Given the description of an element on the screen output the (x, y) to click on. 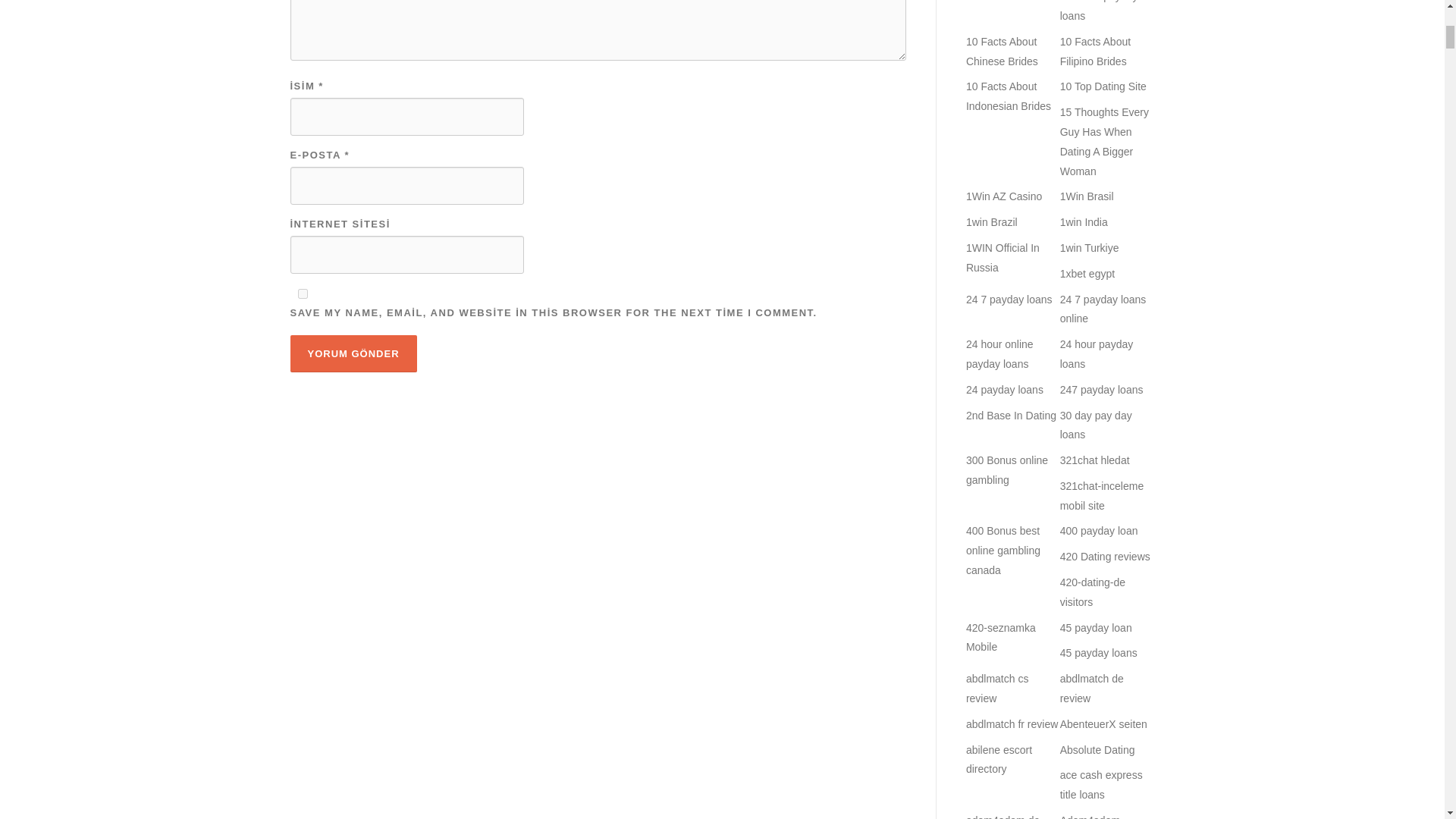
yes (302, 293)
